Given the description of an element on the screen output the (x, y) to click on. 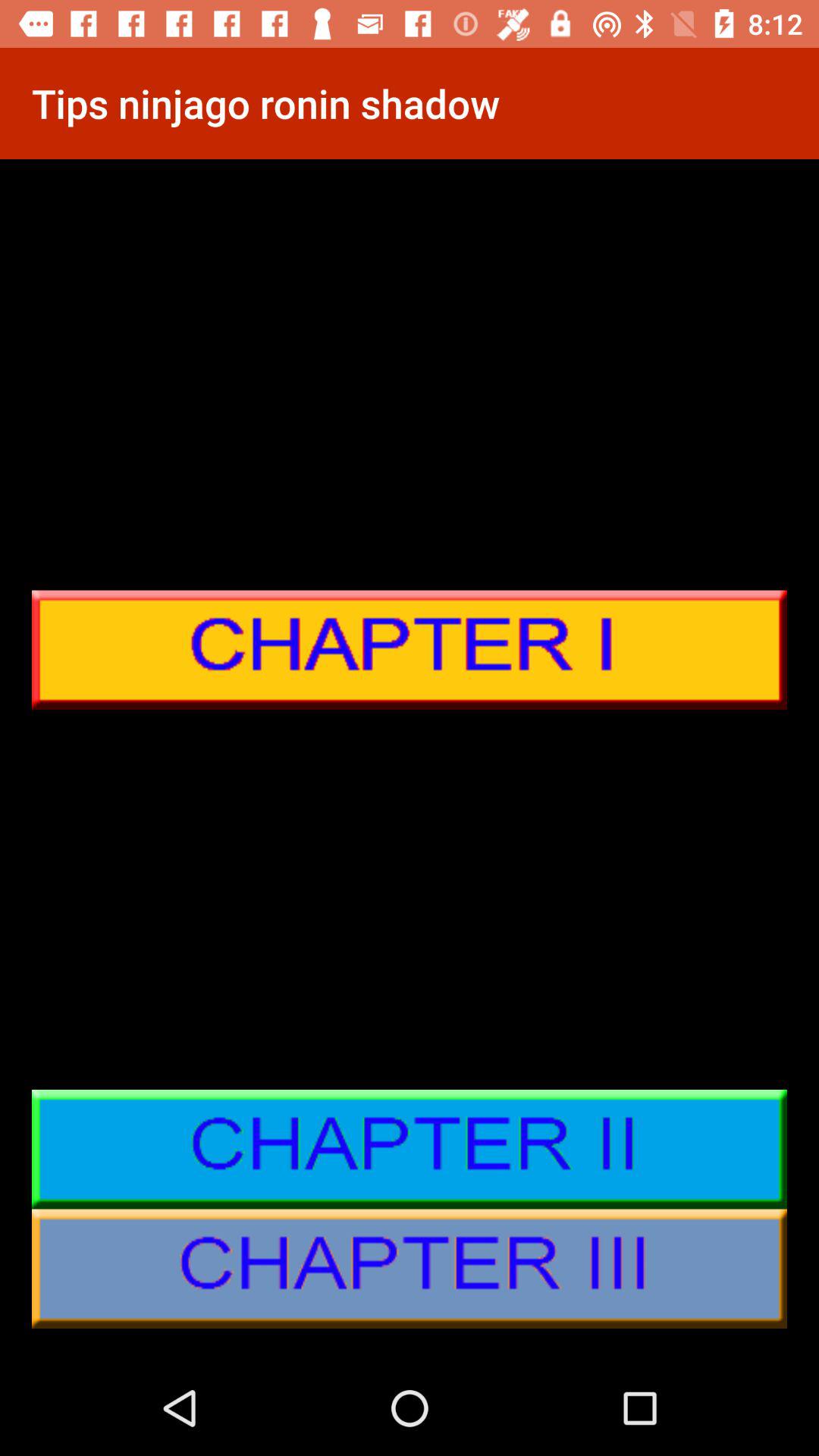
toggle select option (409, 1149)
